Given the description of an element on the screen output the (x, y) to click on. 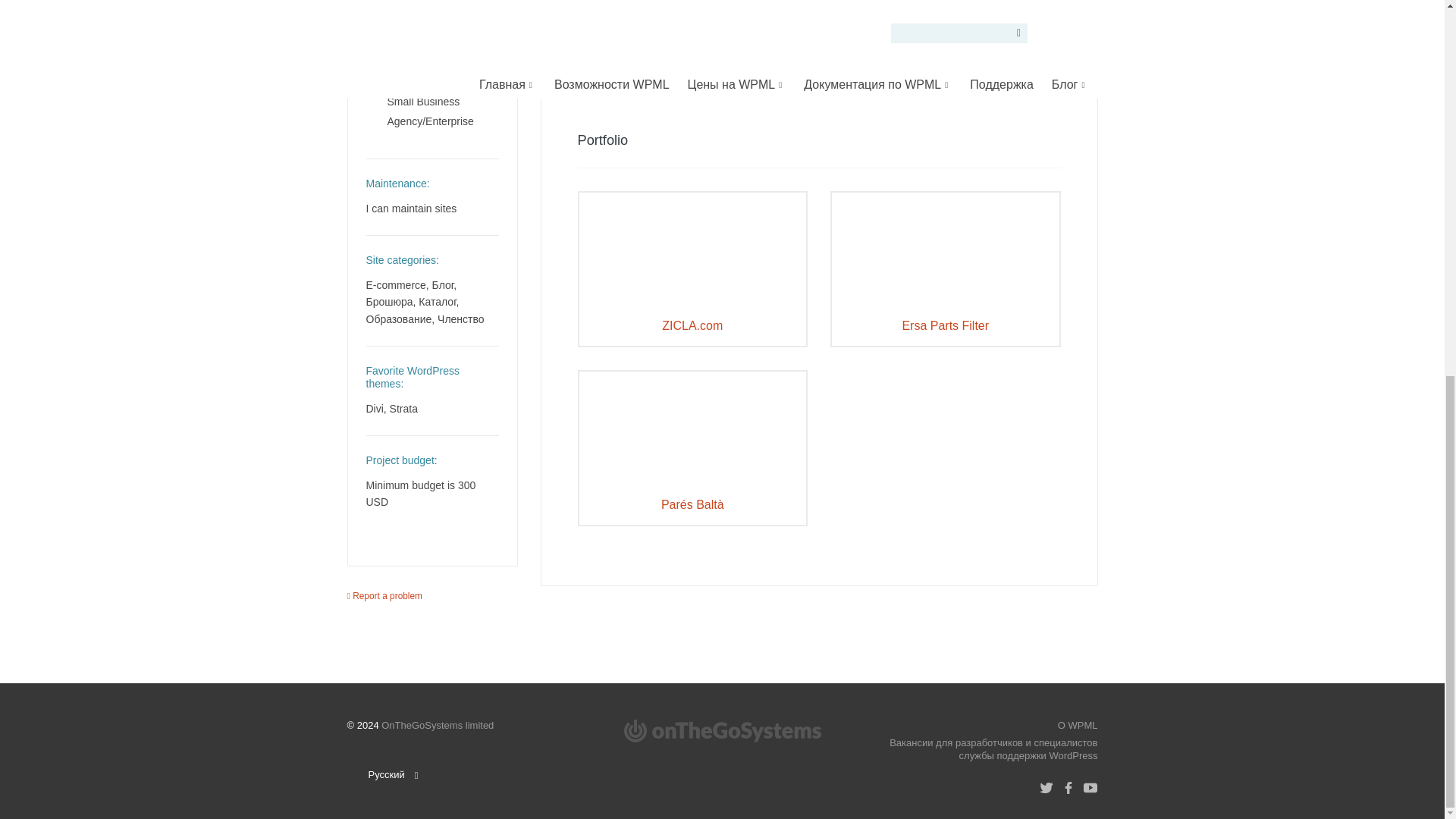
Catalan (1011, 9)
Ersa Parts Filter (945, 249)
ZICLA.com (692, 249)
